Given the description of an element on the screen output the (x, y) to click on. 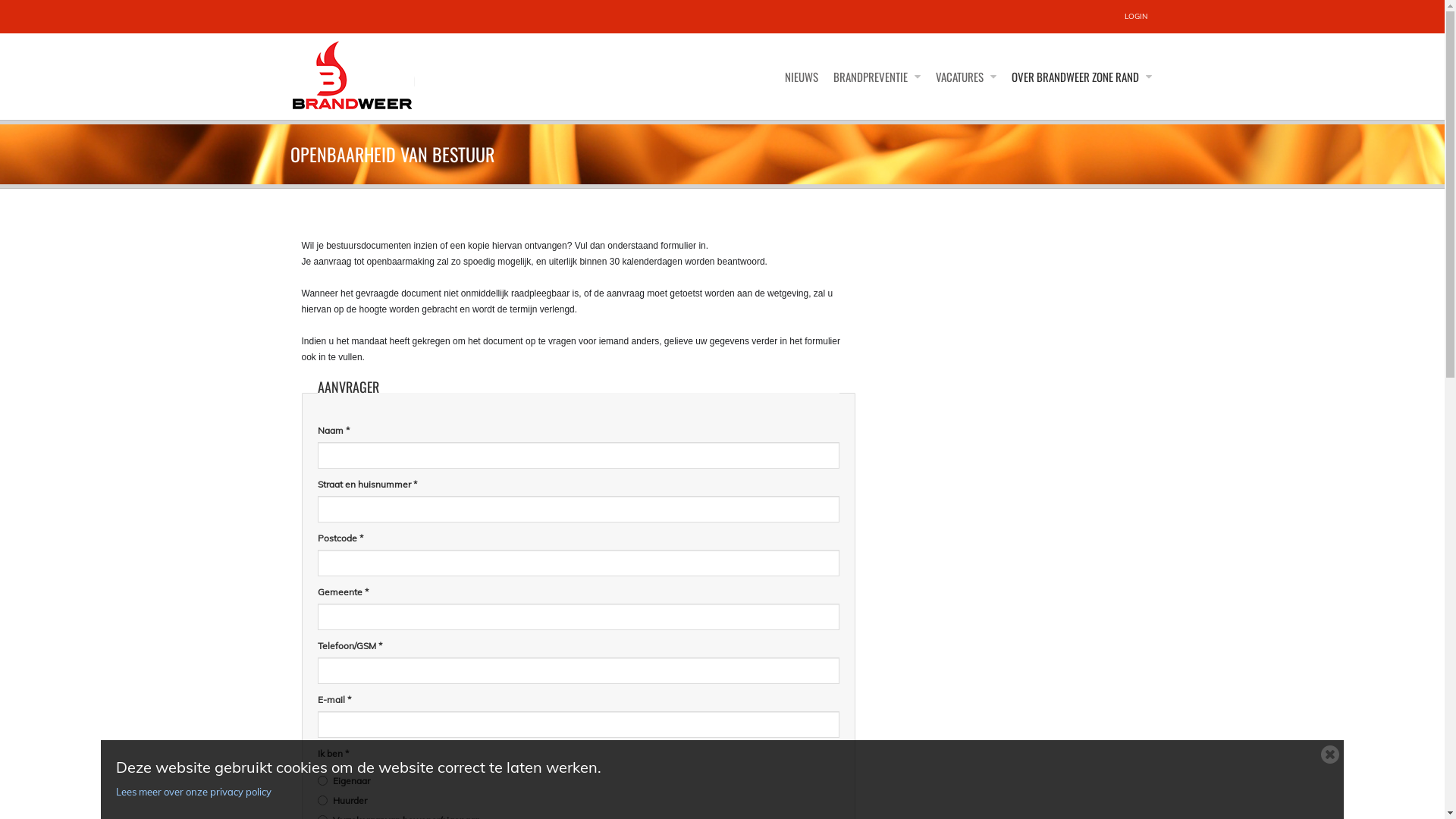
Close cookie notice Element type: text (1329, 753)
Lees meer over onze privacy policy Element type: text (714, 791)
VACATURES Element type: text (965, 76)
BRANDPREVENTIE Element type: text (875, 76)
OVER BRANDWEER ZONE RAND Element type: text (1081, 76)
NIEUWS Element type: text (800, 76)
LOGIN Element type: text (1134, 16)
